Given the description of an element on the screen output the (x, y) to click on. 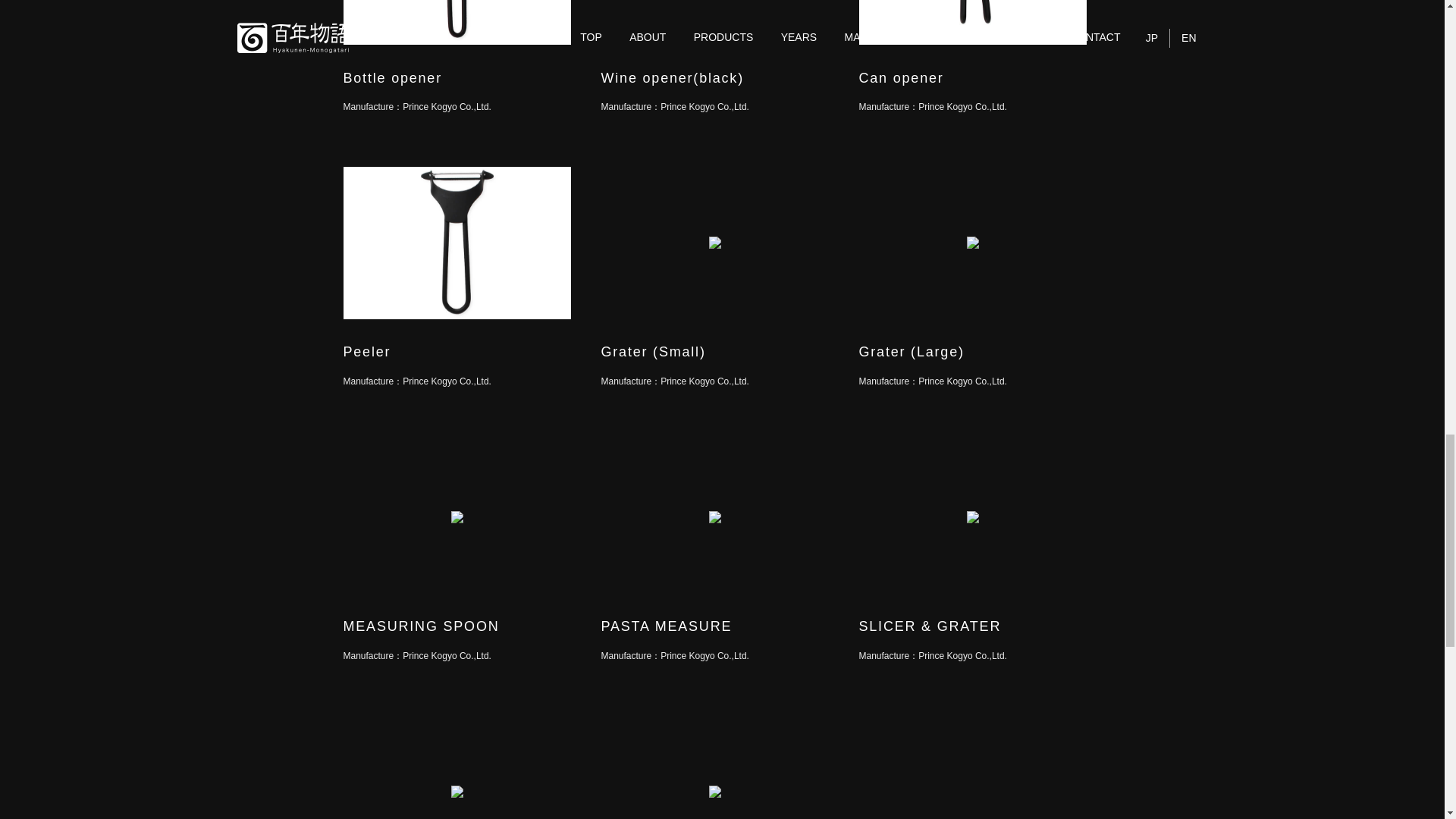
Prince Kogyo Co.,Ltd. (447, 380)
Peeler (366, 351)
Prince Kogyo Co.,Ltd. (705, 106)
Can opener (901, 77)
Prince Kogyo Co.,Ltd. (447, 106)
Prince Kogyo Co.,Ltd. (962, 106)
Bottle opener (391, 77)
